Given the description of an element on the screen output the (x, y) to click on. 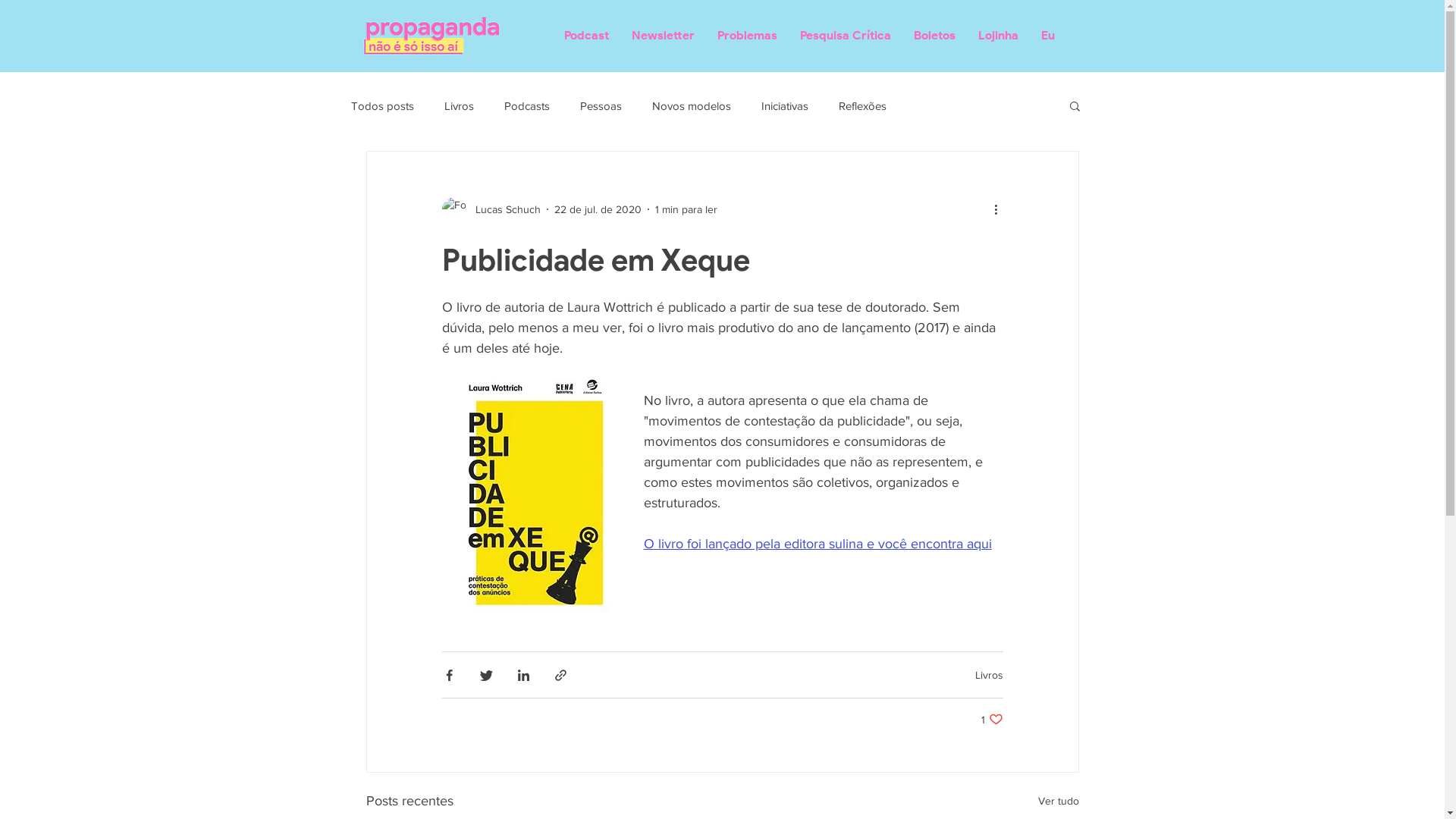
Livros Element type: text (989, 674)
Newsletter Element type: text (663, 35)
Podcasts Element type: text (526, 104)
Novos modelos Element type: text (691, 104)
Todos posts Element type: text (381, 104)
Podcast Element type: text (586, 35)
Boletos Element type: text (934, 35)
Eu Element type: text (1047, 35)
Iniciativas Element type: text (784, 104)
Problemas Element type: text (747, 35)
Ver tudo Element type: text (1057, 801)
Volte para a home do podcast Element type: hover (431, 35)
Livros Element type: text (458, 104)
Pessoas Element type: text (600, 104)
Lojinha Element type: text (997, 35)
